Given the description of an element on the screen output the (x, y) to click on. 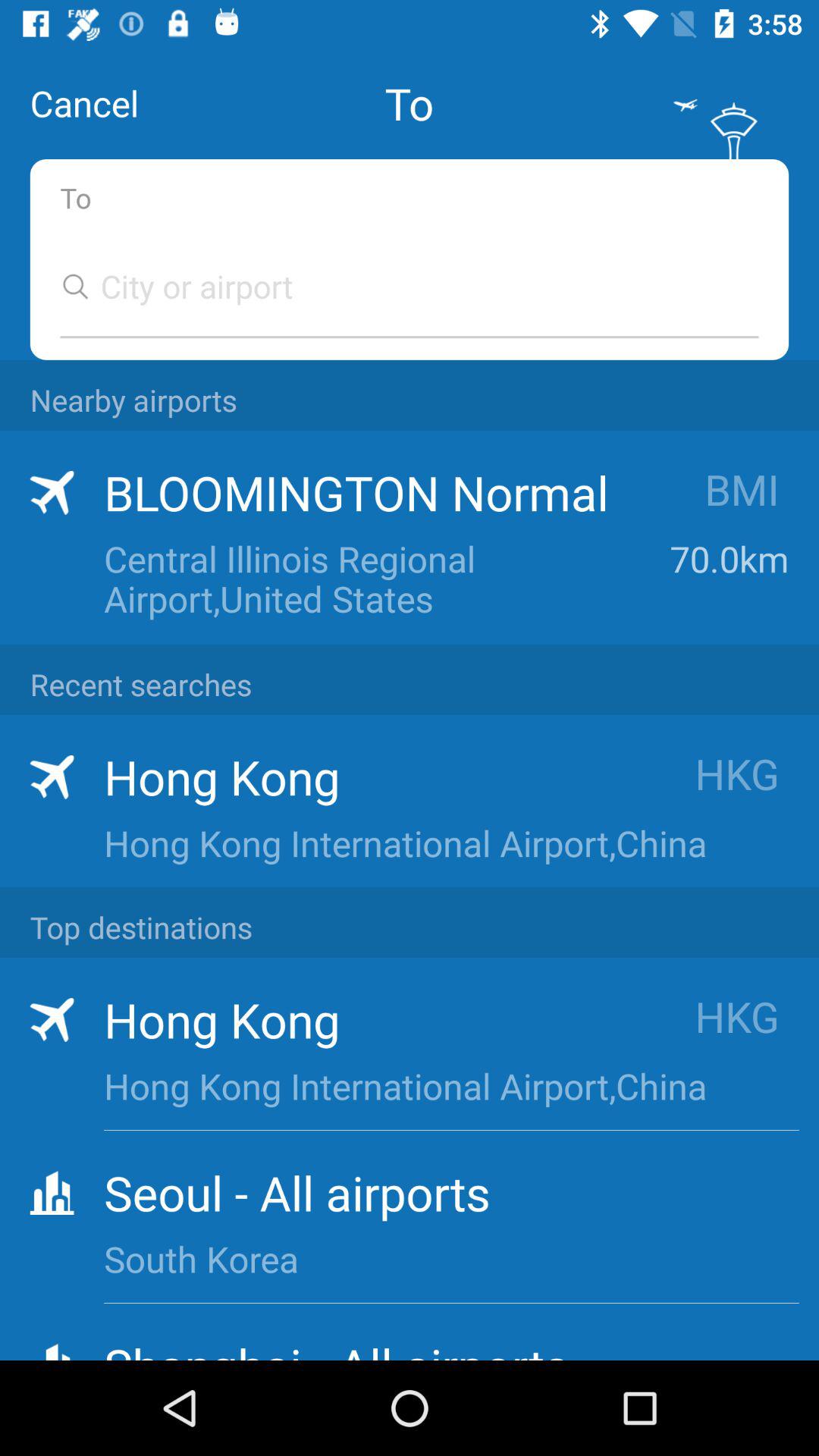
launch the cancel (84, 103)
